Given the description of an element on the screen output the (x, y) to click on. 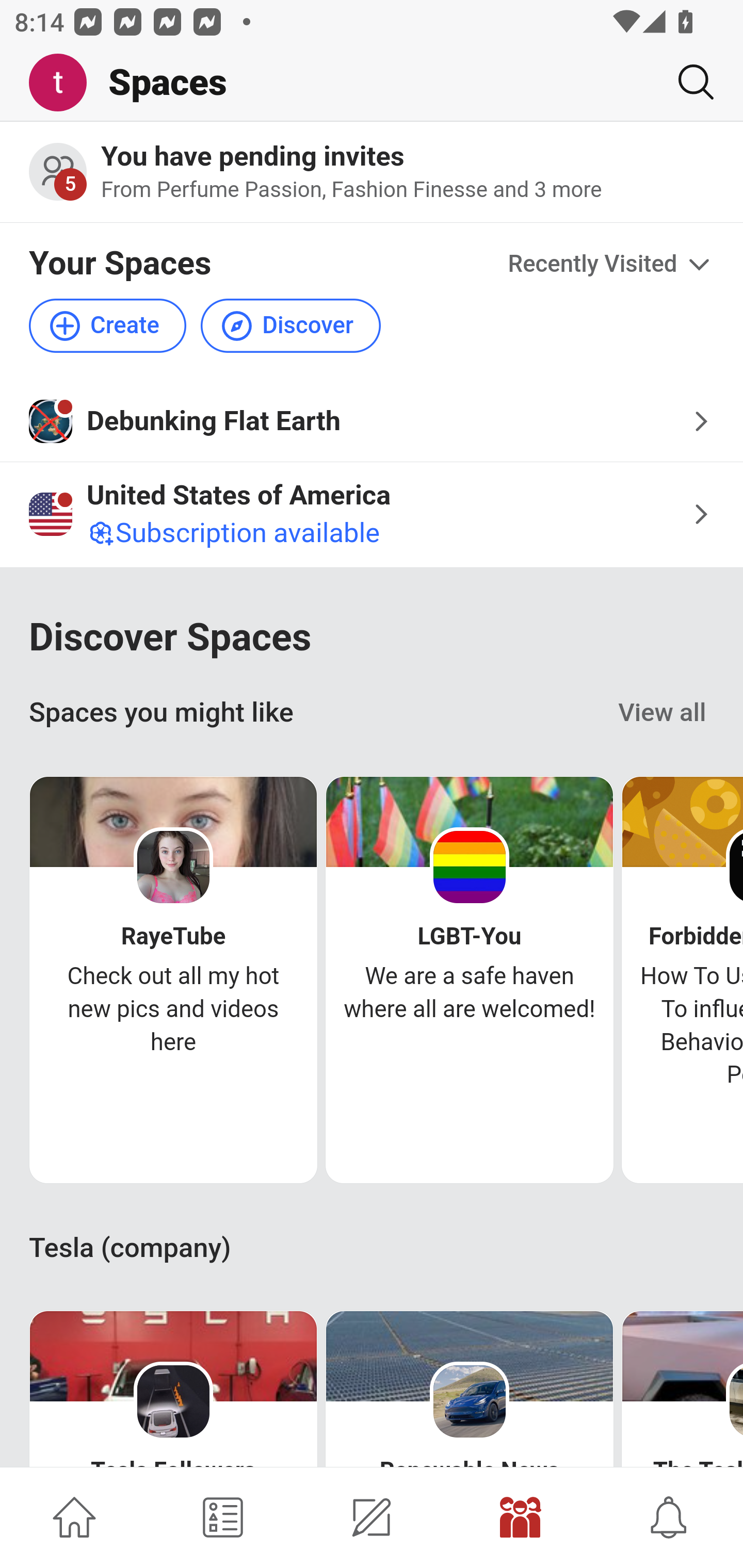
Me Spaces Search (371, 82)
Me (64, 83)
Search (688, 82)
Recently Visited (610, 264)
Create (107, 324)
Discover (289, 324)
Icon for Debunking Flat Earth Debunking Flat Earth (371, 421)
View all (662, 712)
RayeTube (172, 936)
LGBT-You (468, 936)
